Given the description of an element on the screen output the (x, y) to click on. 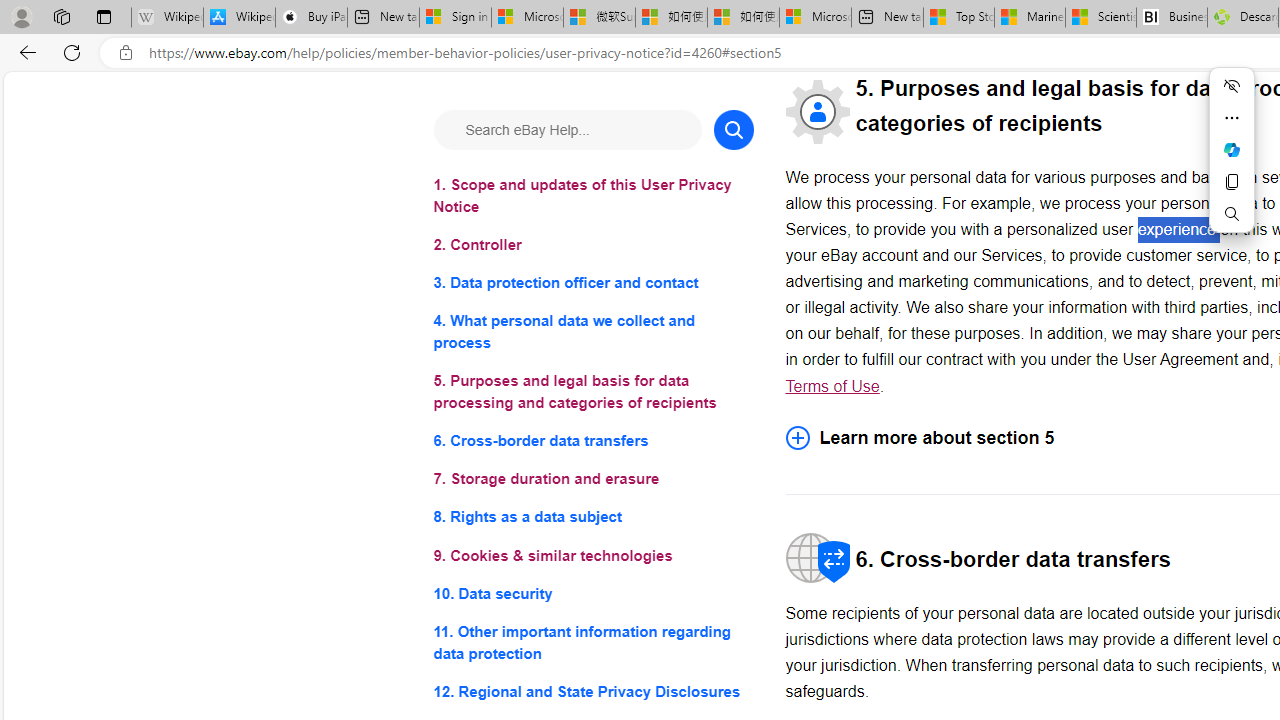
Mini menu on text selection (1231, 149)
12. Regional and State Privacy Disclosures (592, 690)
Sign in to your Microsoft account (455, 17)
1. Scope and updates of this User Privacy Notice (592, 196)
Hide menu (1231, 85)
4. What personal data we collect and process (592, 332)
9. Cookies & similar technologies (592, 555)
Buy iPad - Apple (311, 17)
Marine life - MSN (1029, 17)
Ask Copilot (1231, 149)
More actions (1231, 117)
